Given the description of an element on the screen output the (x, y) to click on. 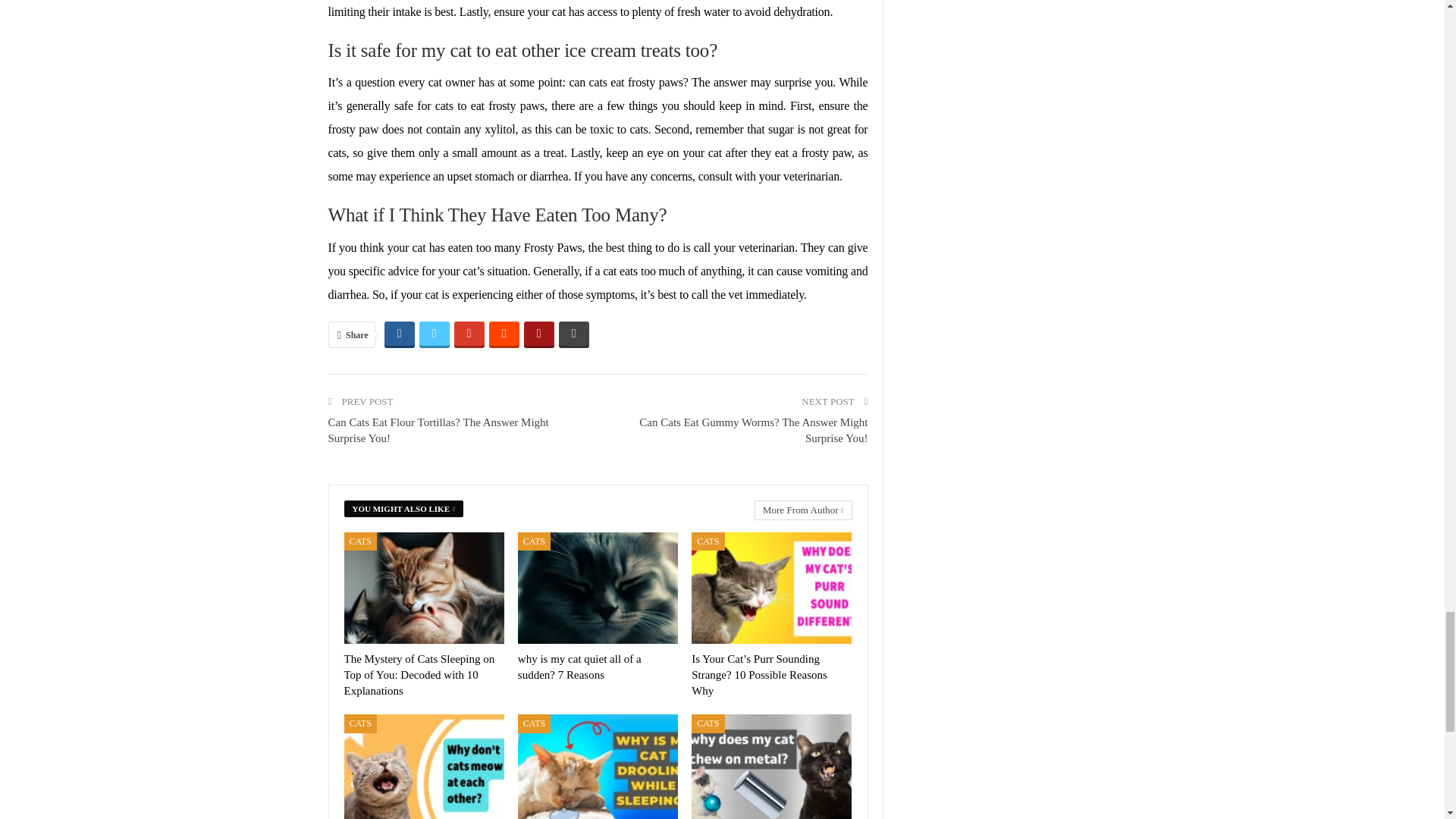
CATS (360, 541)
why is my cat quiet all of a sudden? 7 Reasons (598, 588)
Can Cats Eat Flour Tortillas? The Answer Might Surprise You! (437, 430)
YOU MIGHT ALSO LIKE (407, 507)
why is my cat quiet all of a sudden? 7 Reasons (580, 666)
CATS (707, 541)
More From Author (798, 510)
why is my cat quiet all of a sudden? 7 Reasons (580, 666)
CATS (534, 541)
Can Cats Eat Gummy Worms? The Answer Might Surprise You! (753, 430)
Why Is My Cat Drooling While Sleeping? 20 Reasons Why (598, 766)
